Given the description of an element on the screen output the (x, y) to click on. 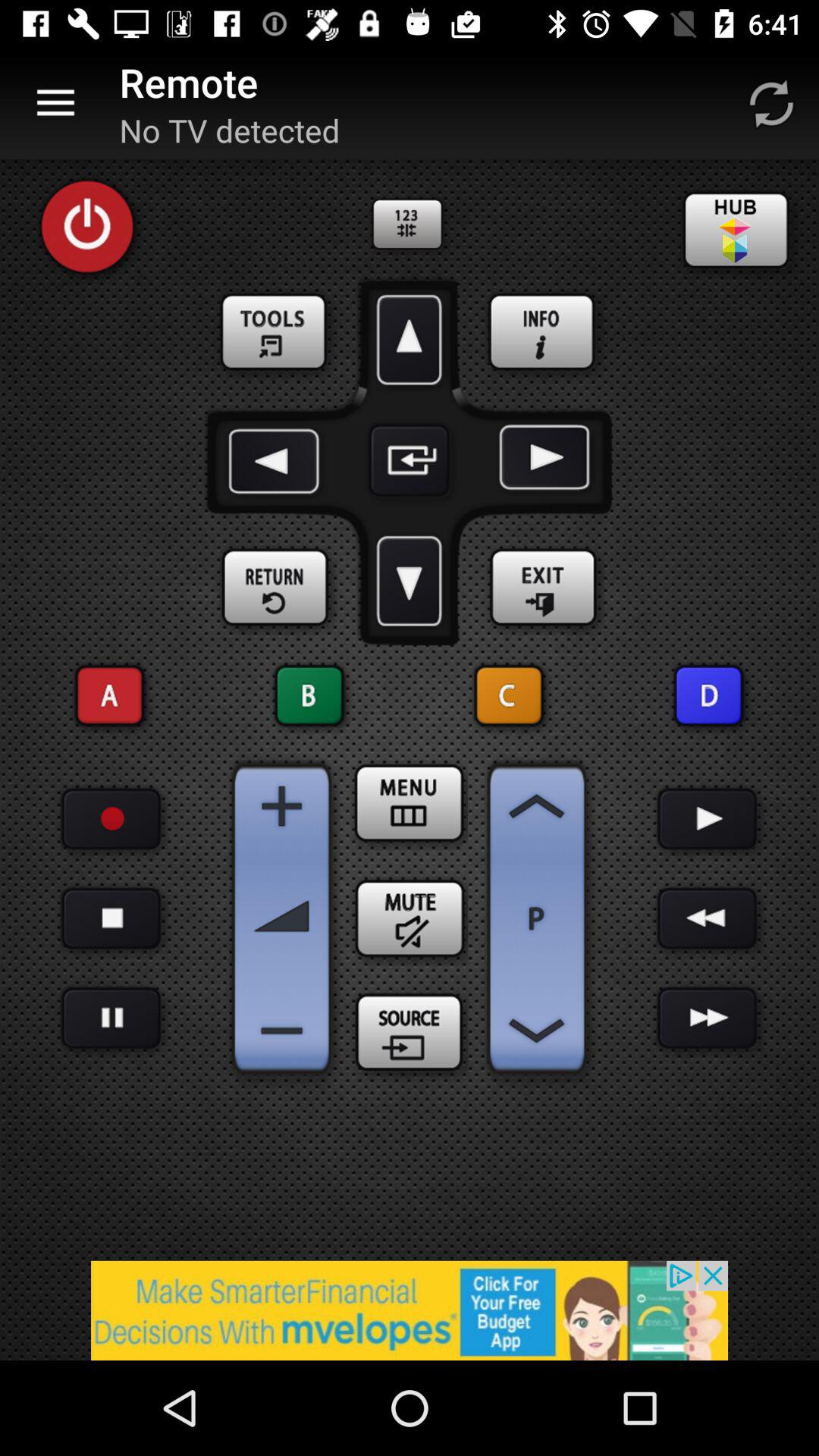
decrease volume (281, 1031)
